Given the description of an element on the screen output the (x, y) to click on. 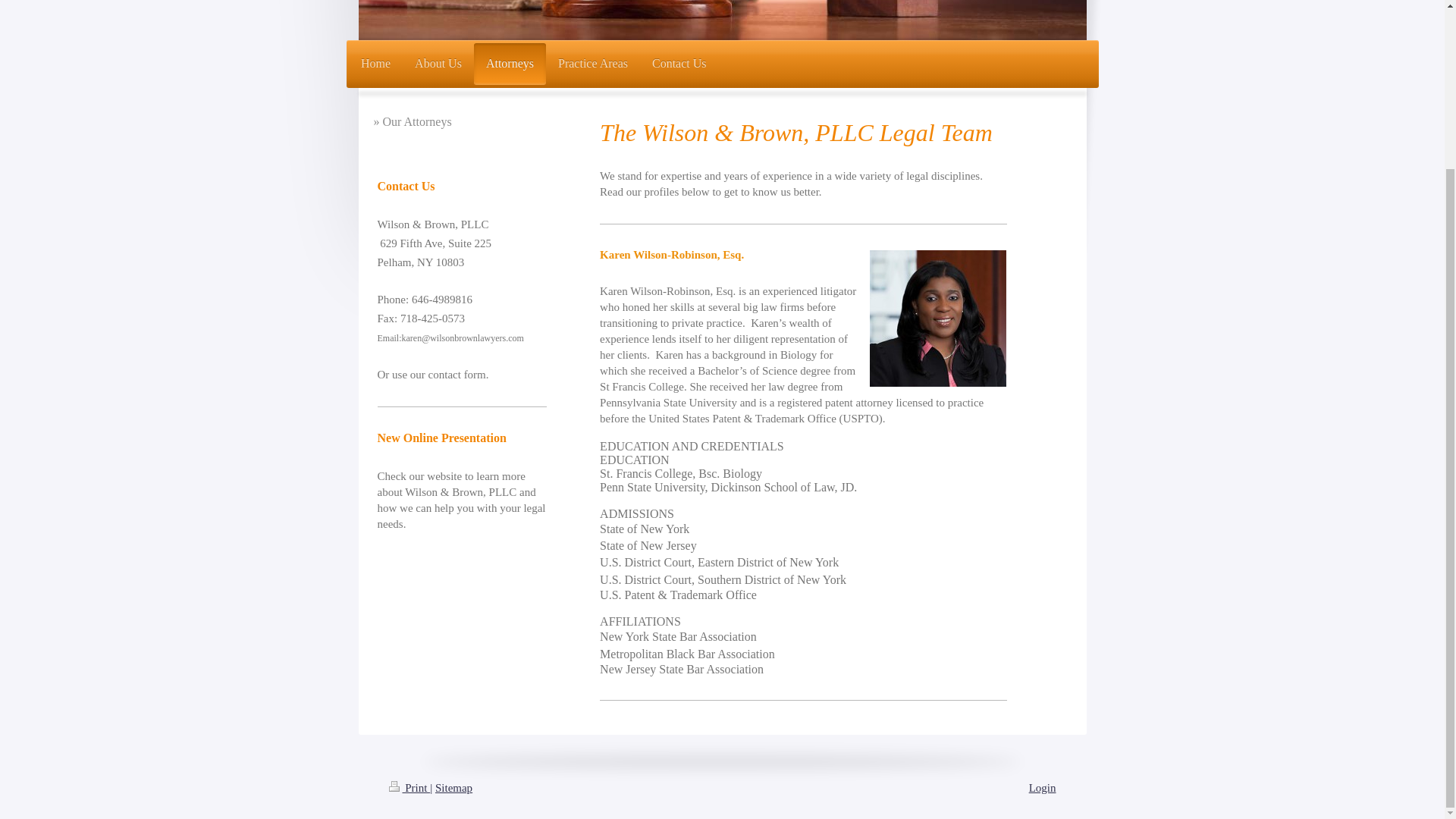
Home (376, 64)
Our Attorneys (461, 121)
Login (1043, 787)
Print (408, 787)
About Us (438, 64)
Attorneys (510, 64)
Contact Us (679, 64)
Sitemap (453, 787)
Practice Areas (593, 64)
